Given the description of an element on the screen output the (x, y) to click on. 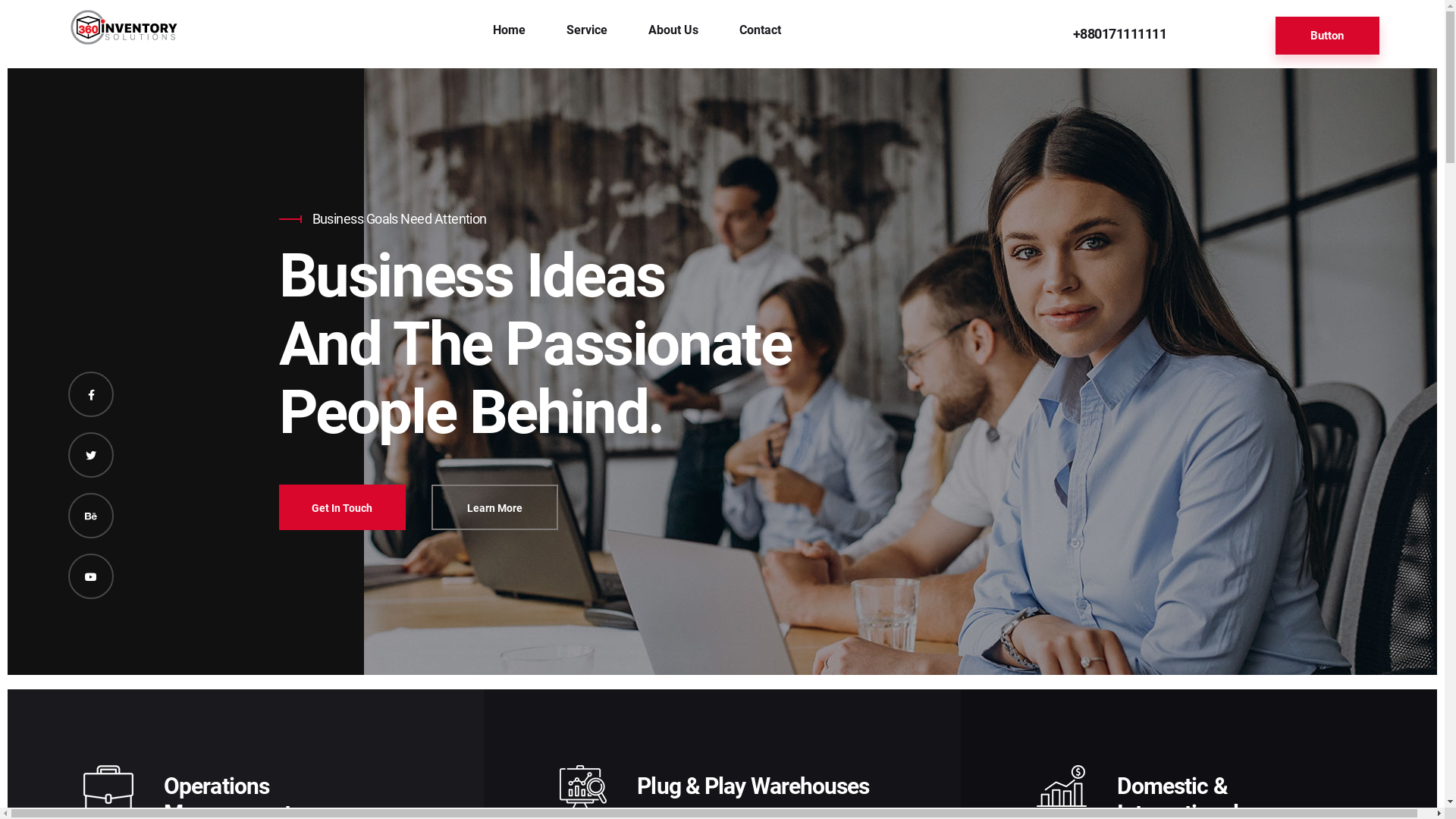
Learn More Element type: text (493, 507)
Get In Touch Element type: text (342, 507)
Button Element type: text (1327, 35)
+880171111111 Element type: text (1119, 33)
